Given the description of an element on the screen output the (x, y) to click on. 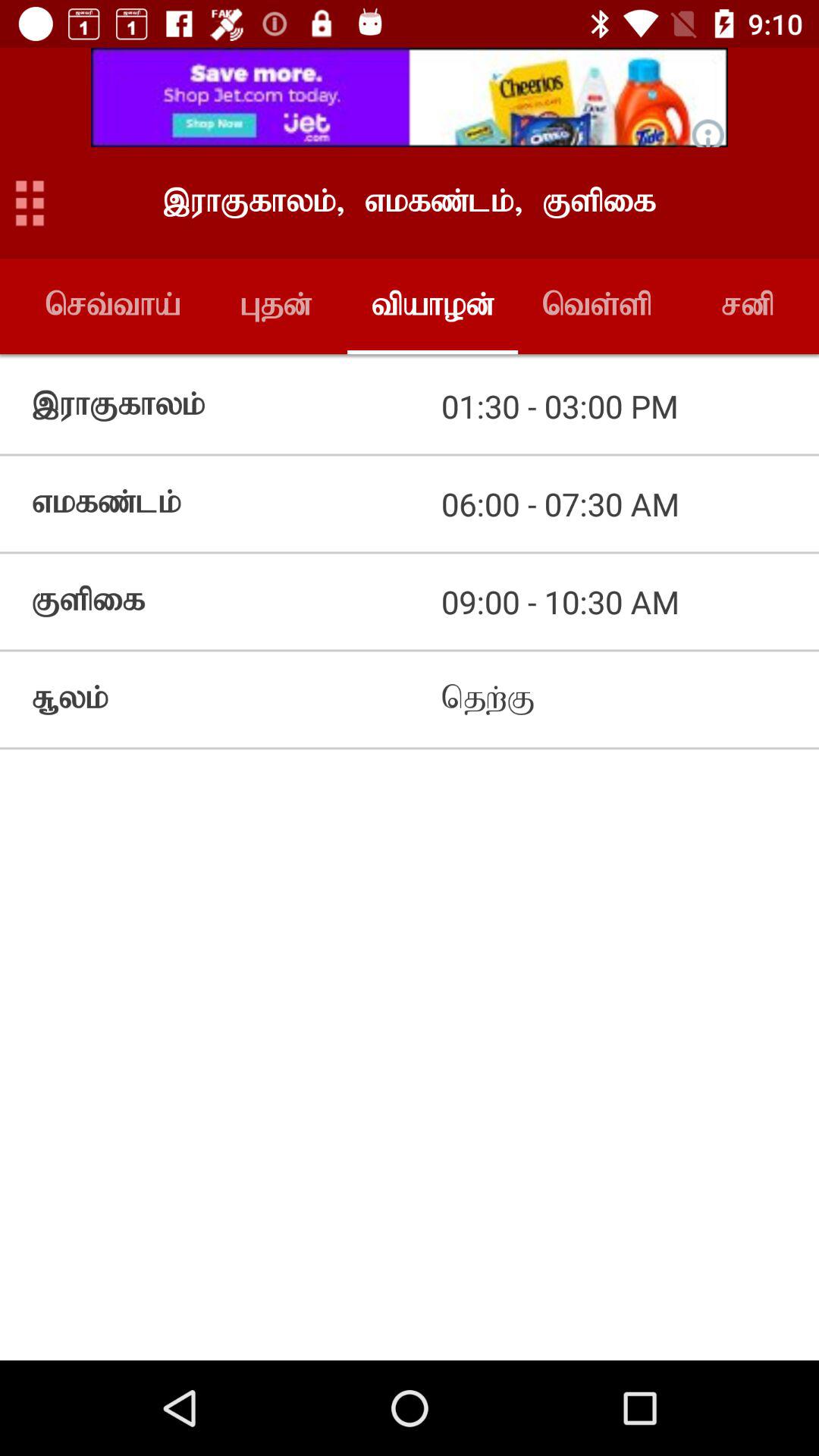
open menu (29, 202)
